Given the description of an element on the screen output the (x, y) to click on. 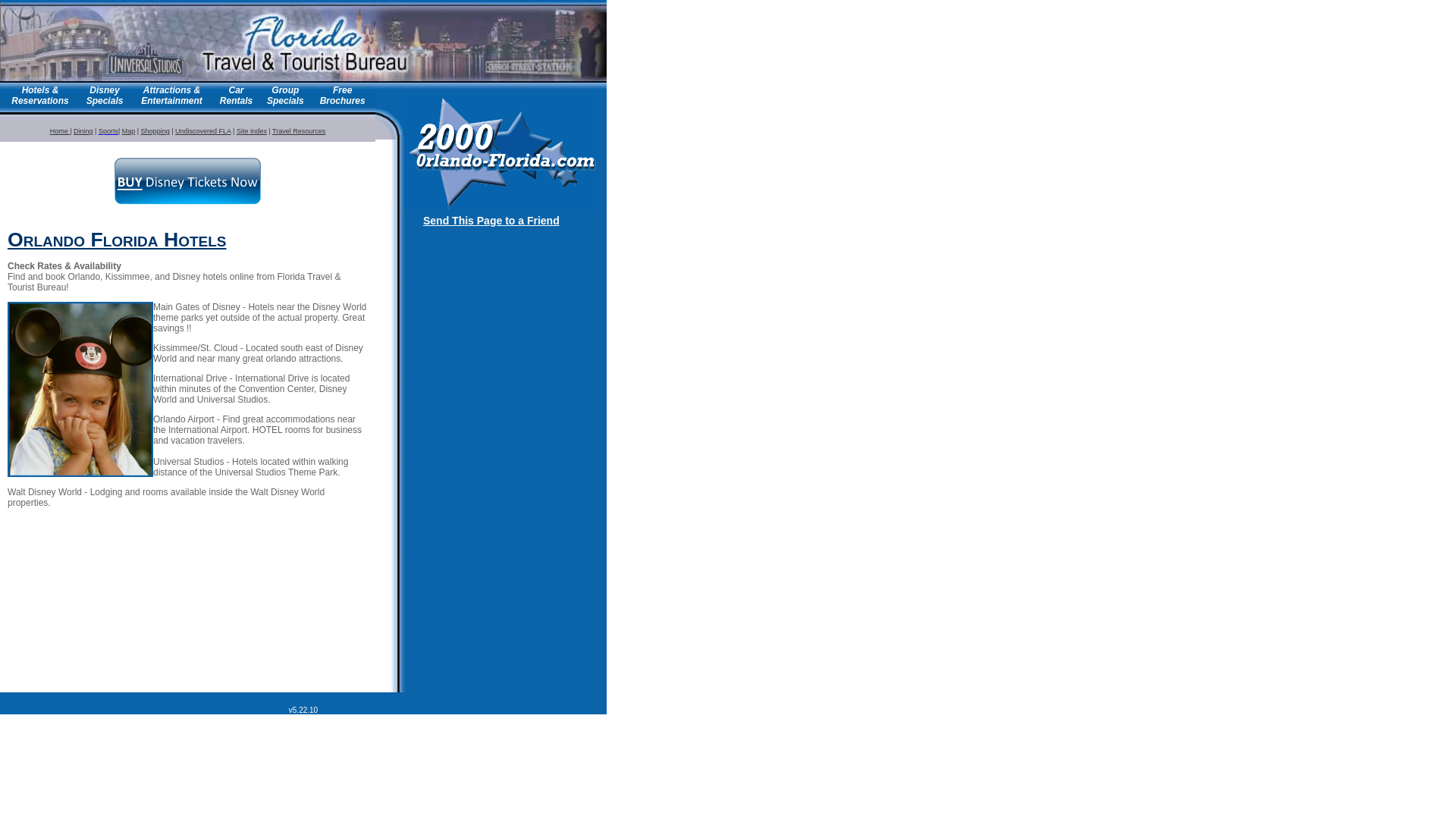
Travel Resources Element type: text (298, 130)
Disney
Specials Element type: text (104, 95)
Undiscovered FLA Element type: text (203, 130)
Car
Rentals Element type: text (235, 95)
Site Index Element type: text (251, 130)
Sports Element type: text (108, 130)
Dining Element type: text (83, 130)
Home Element type: text (60, 130)
Hotels &
Reservations Element type: text (39, 95)
Attractions Element type: text (168, 89)
Map Element type: text (128, 130)
Send This Page to a Friend Element type: text (491, 220)
Entertainment Element type: text (171, 100)
Shopping Element type: text (155, 130)
Free
Brochures Element type: text (342, 95)
Group
Specials Element type: text (285, 95)
